Given the description of an element on the screen output the (x, y) to click on. 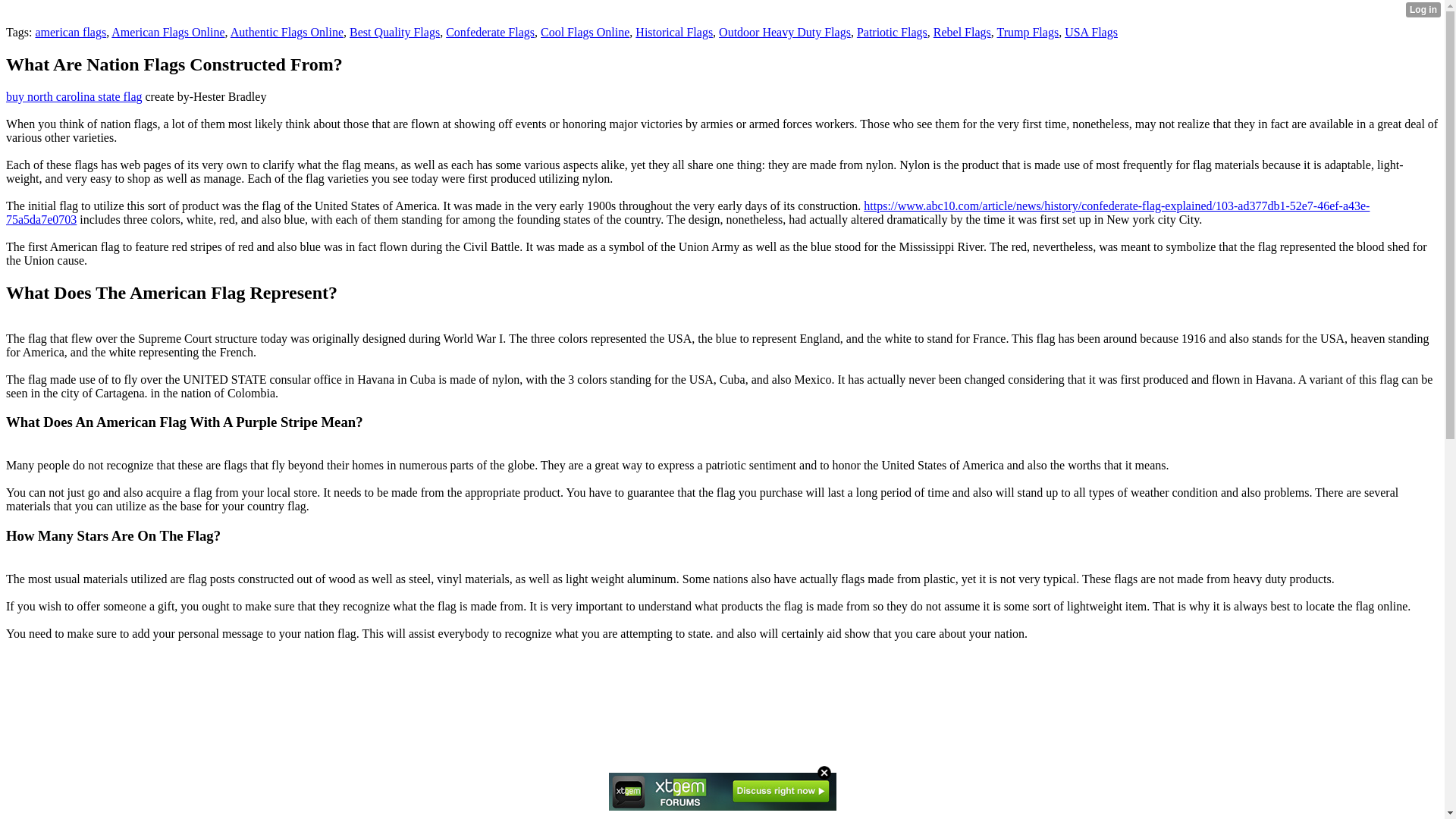
american flags (70, 31)
Patriotic Flags (892, 31)
Cool Flags Online (584, 31)
Rebel Flags (962, 31)
USA Flags (1091, 31)
Confederate Flags (489, 31)
Authentic Flags Online (286, 31)
American Flags Online (168, 31)
Outdoor Heavy Duty Flags (784, 31)
buy north carolina state flag (73, 96)
Historical Flags (673, 31)
Best Quality Flags (394, 31)
Trump Flags (1026, 31)
